Given the description of an element on the screen output the (x, y) to click on. 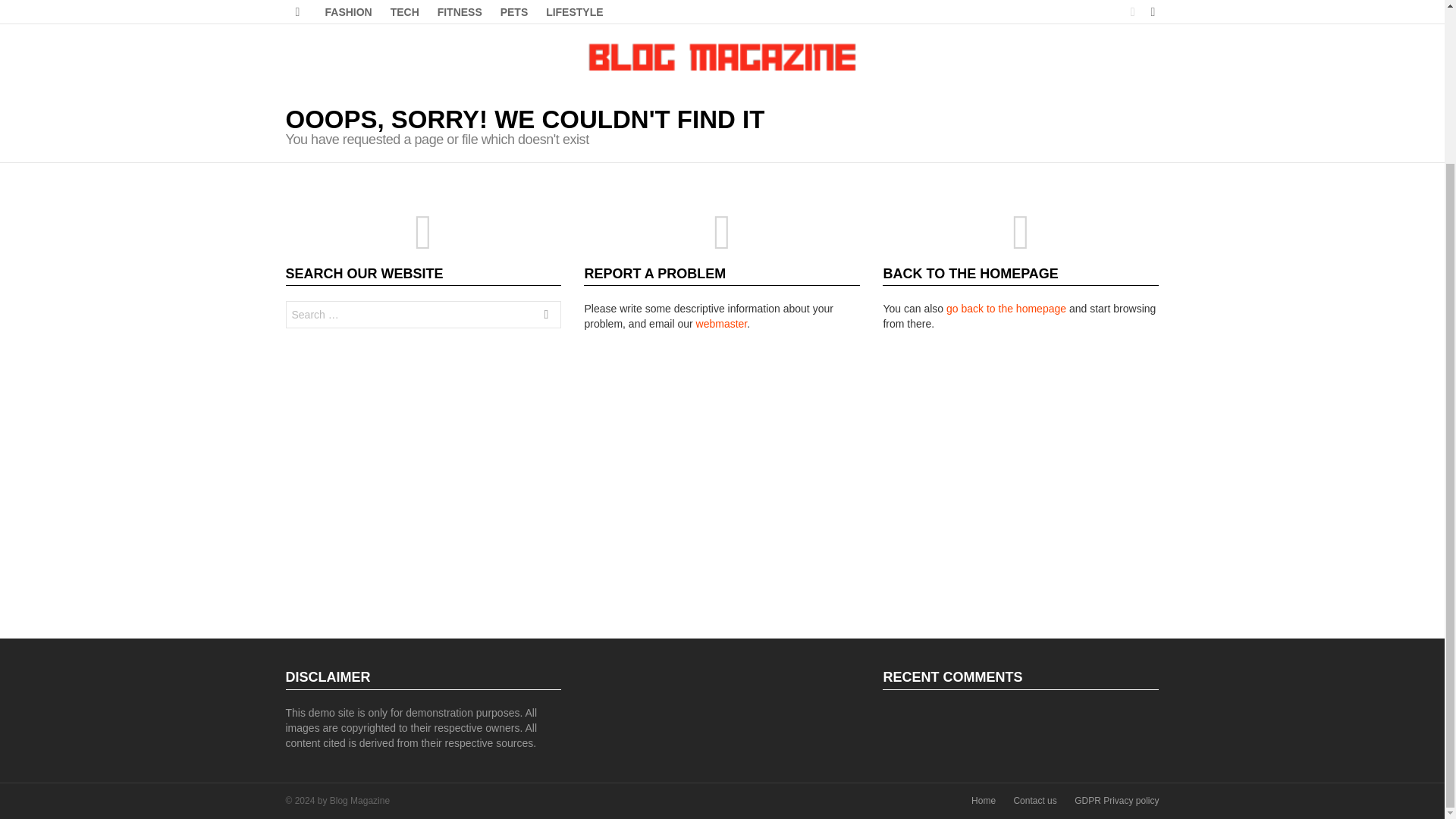
PETS (514, 11)
GDPR Privacy policy (1116, 800)
FASHION (347, 11)
SEARCH (545, 316)
TECH (404, 11)
go back to the homepage (1005, 308)
Contact us (1035, 800)
Home (983, 800)
webmaster (721, 323)
LIFESTYLE (574, 11)
